Given the description of an element on the screen output the (x, y) to click on. 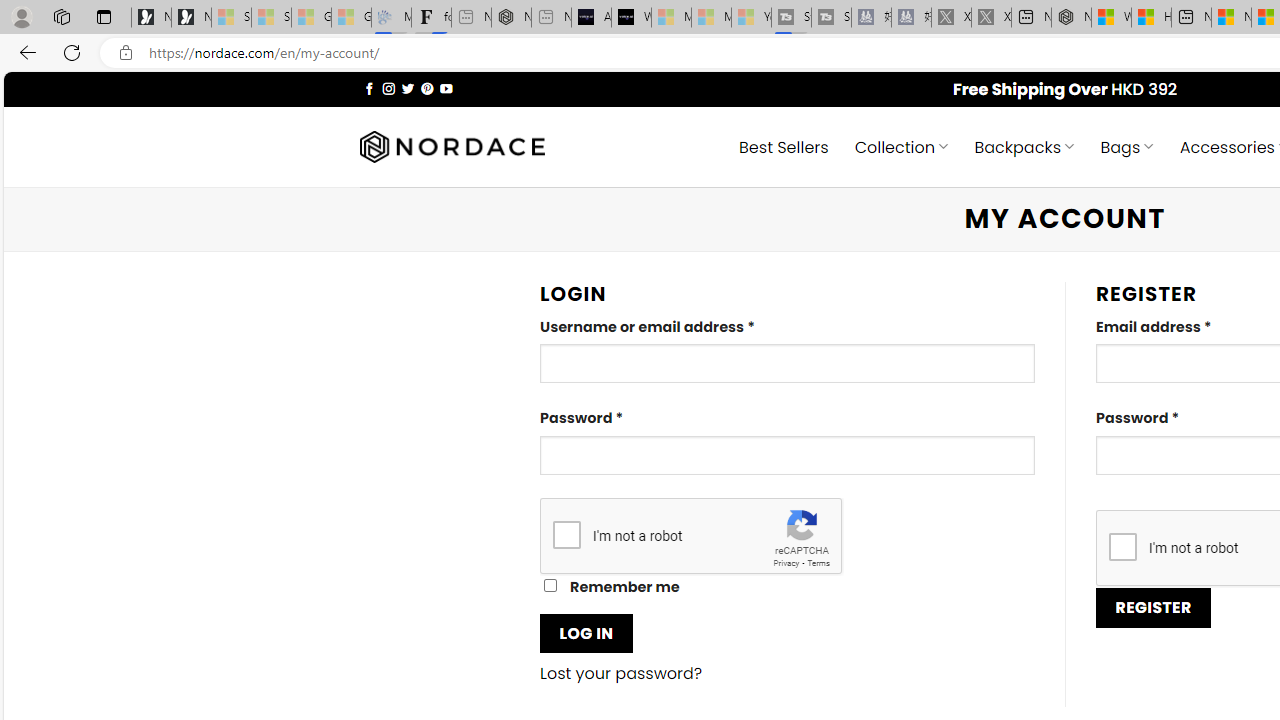
REGISTER (1153, 607)
Follow on Facebook (369, 88)
 Best Sellers (783, 146)
Lost your password? (621, 673)
  Best Sellers (783, 146)
I'm not a robot (1122, 546)
